Given the description of an element on the screen output the (x, y) to click on. 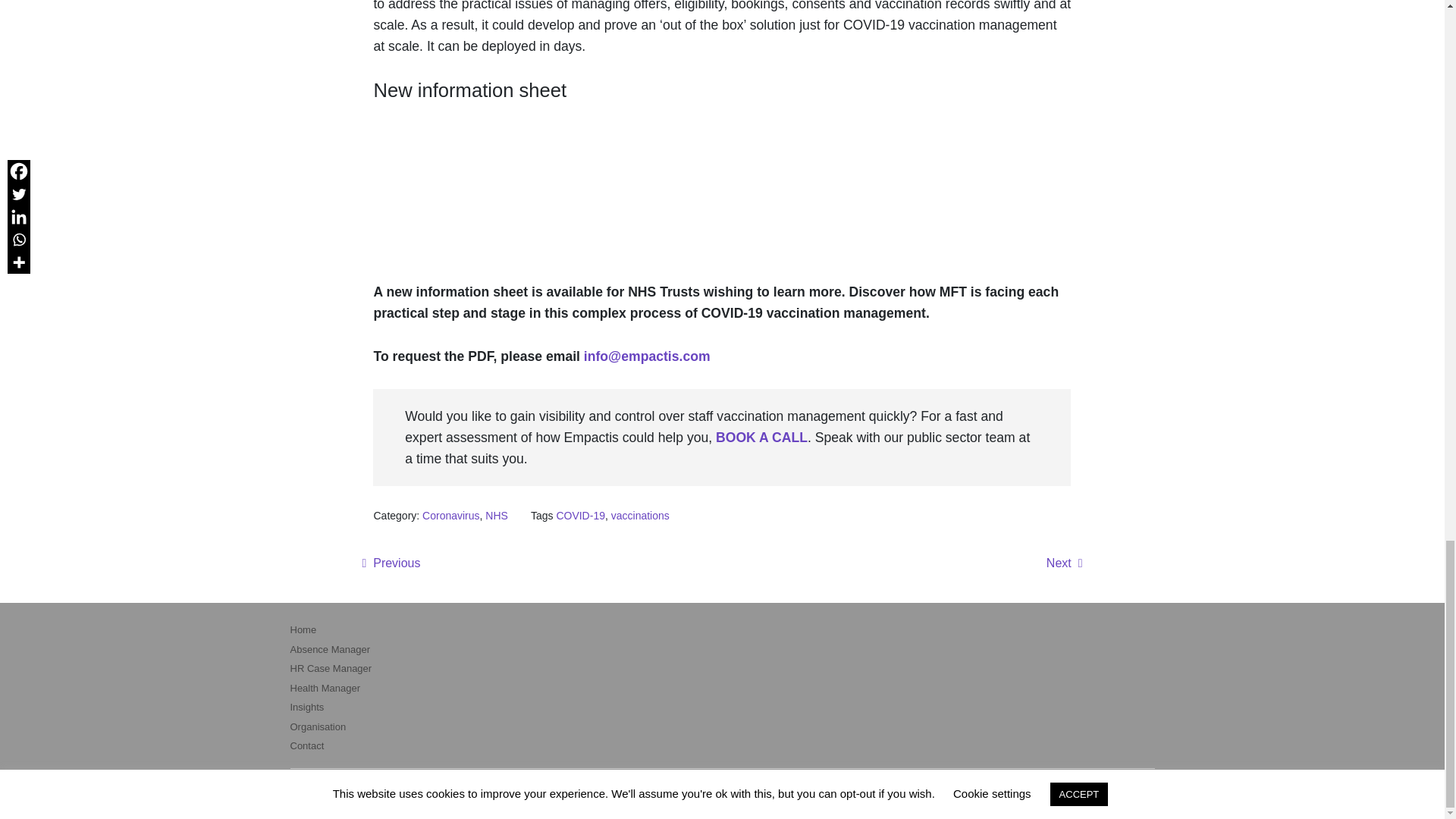
NHS (496, 515)
Coronavirus (450, 515)
BOOK A CALL (762, 437)
vaccinations (640, 515)
COVID-19 (580, 515)
Next   (1064, 562)
  Previous (390, 562)
